Given the description of an element on the screen output the (x, y) to click on. 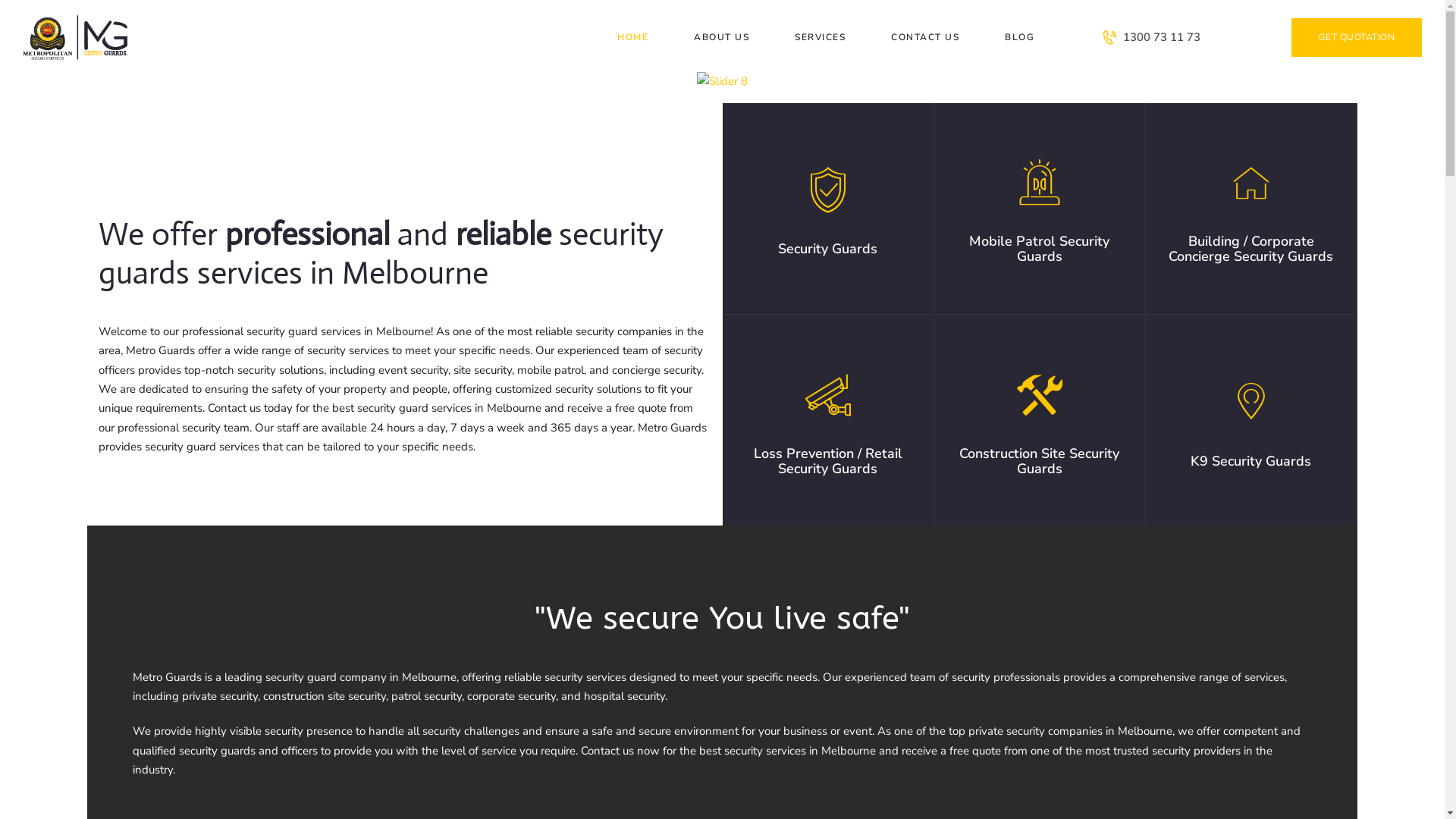
ABOUT US Element type: text (721, 37)
Building / Corporate Concierge Security Guards Element type: text (1250, 139)
Security Guards Element type: text (827, 248)
Security Guards Element type: text (827, 147)
GET QUOTATION Element type: text (1355, 37)
1300 73 11 73 Element type: text (1151, 37)
SERVICES Element type: text (819, 37)
CONTACT US Element type: text (925, 37)
Mobile Patrol Security Guards Element type: text (1039, 139)
K9 Security Guards Element type: text (1250, 345)
Slider 8 Element type: hover (721, 81)
Mobile Patrol Security Guards Element type: text (1039, 248)
Construction Site Security Guards Element type: text (1039, 460)
HOME Element type: text (632, 37)
K9 Security Guards Element type: text (1250, 460)
BLOG Element type: text (1019, 37)
Loss Prevention / Retail Security Guards Element type: text (827, 460)
Loss Prevention / Retail Security Guards Element type: text (827, 359)
Building / Corporate Concierge Security Guards Element type: text (1250, 248)
Construction Site Security Guards Element type: text (1039, 352)
